Given the description of an element on the screen output the (x, y) to click on. 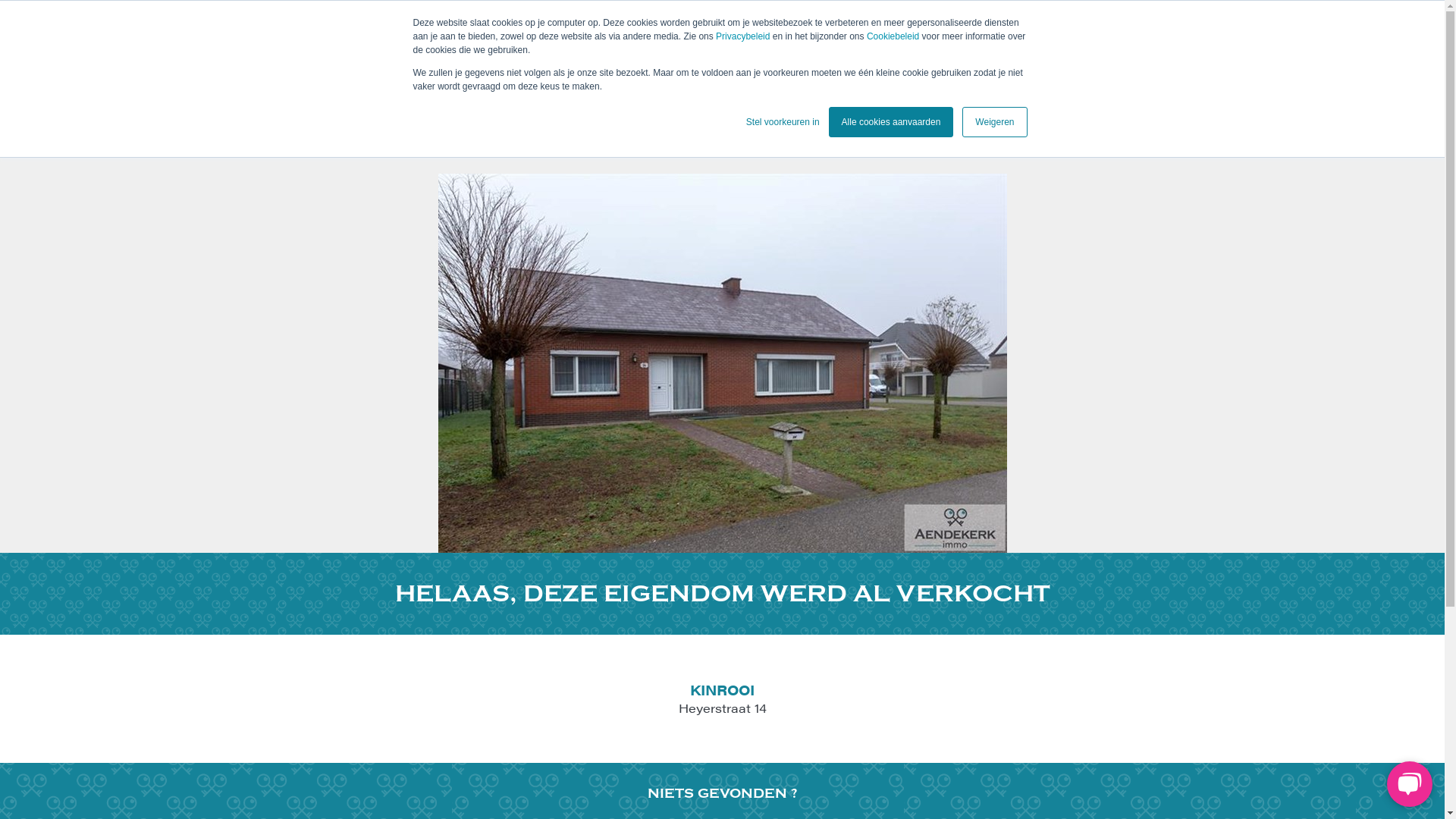
HOME Element type: text (476, 102)
login Element type: text (581, 27)
OVER ONS Element type: text (947, 102)
GRATIS SCHATTING Element type: text (1024, 27)
Aendekerk - Immo - Kinrooi - Heyerstraat - 14 Element type: hover (722, 362)
Cookiebeleid Element type: text (894, 36)
HOU ME OP DE HOOGTE Element type: text (892, 27)
VERKOPEN Element type: text (557, 102)
BLOG Element type: text (1024, 102)
Stel voorkeuren in Element type: text (782, 121)
TE KOOP Element type: text (653, 102)
Link homepage Element type: hover (365, 87)
+32 (0)89 303 676 Element type: text (493, 27)
TE HUUR Element type: text (741, 102)
info@aendekerk-immo.be Element type: text (357, 27)
CONTACT Element type: text (1107, 102)
Weigeren Element type: text (994, 121)
Privacybeleid Element type: text (743, 36)
Alle cookies aanvaarden Element type: text (890, 121)
REFERENTIES Element type: text (841, 102)
